Given the description of an element on the screen output the (x, y) to click on. 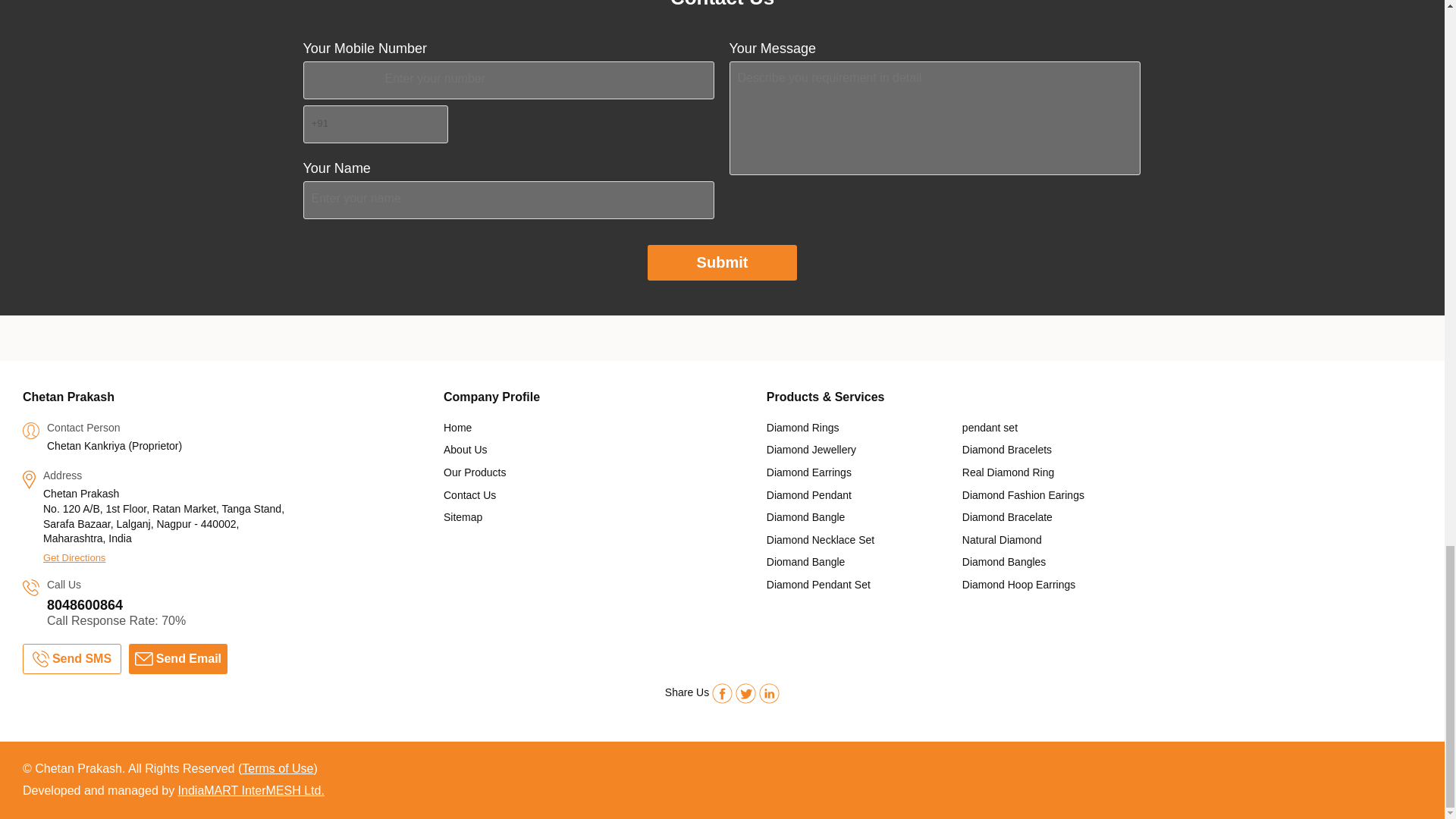
Submit (722, 262)
